Given the description of an element on the screen output the (x, y) to click on. 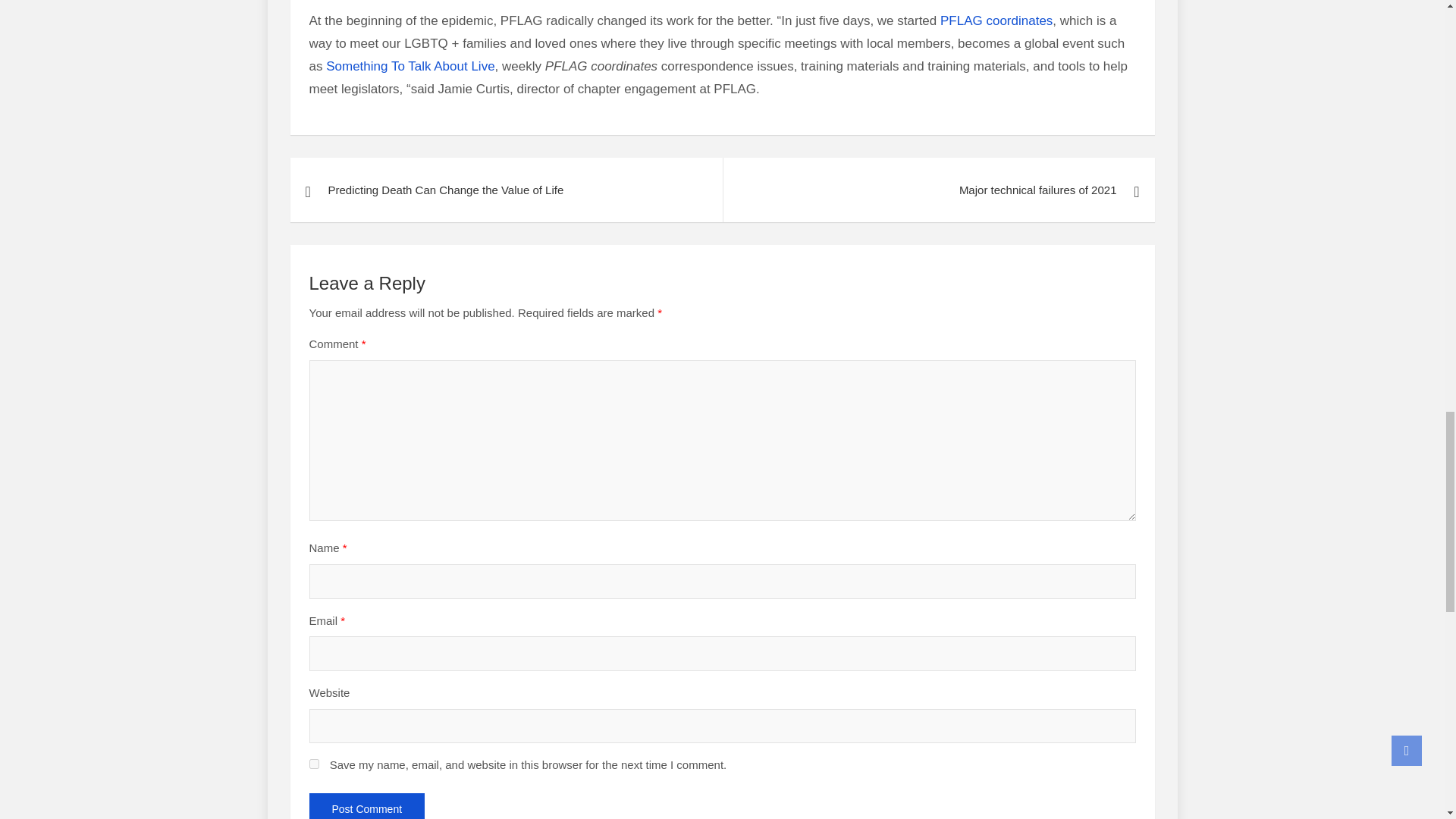
Major technical failures of 2021 (938, 190)
Post Comment (366, 806)
yes (313, 764)
Post Comment (366, 806)
PFLAG coordinates (996, 20)
Something To Talk About Live (410, 65)
Predicting Death Can Change the Value of Life (505, 190)
